Given the description of an element on the screen output the (x, y) to click on. 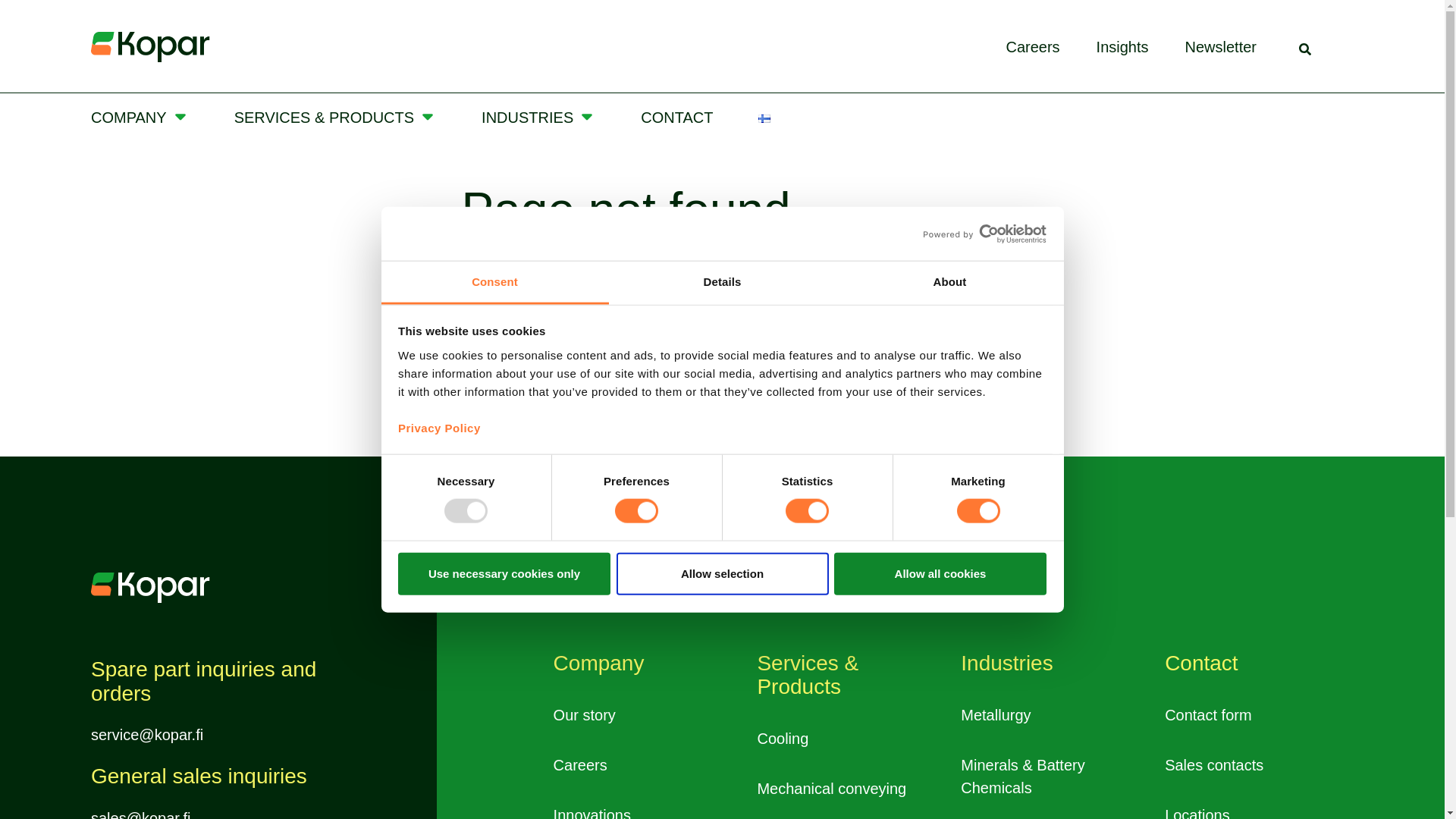
Consent (494, 282)
About (948, 282)
Privacy Policy (438, 427)
Privacy Policy (438, 427)
Details (721, 282)
